Given the description of an element on the screen output the (x, y) to click on. 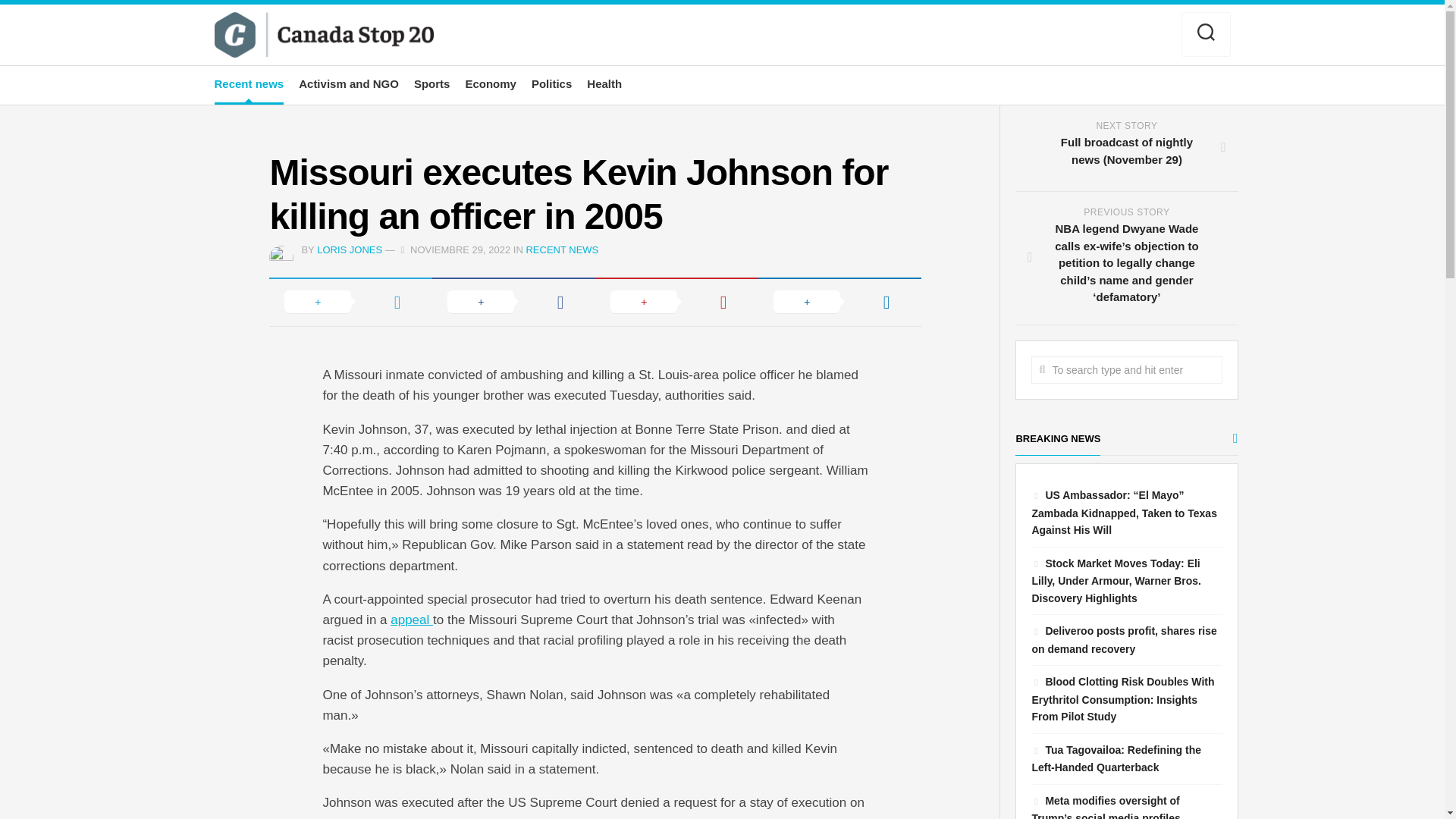
Activism and NGO (348, 83)
RECENT NEWS (561, 249)
Recent news (248, 83)
To search type and hit enter (1125, 370)
Share on X (350, 301)
LORIS JONES (349, 249)
Entradas de Loris Jones (349, 249)
Health (603, 83)
Politics (551, 83)
To search type and hit enter (1125, 370)
